Given the description of an element on the screen output the (x, y) to click on. 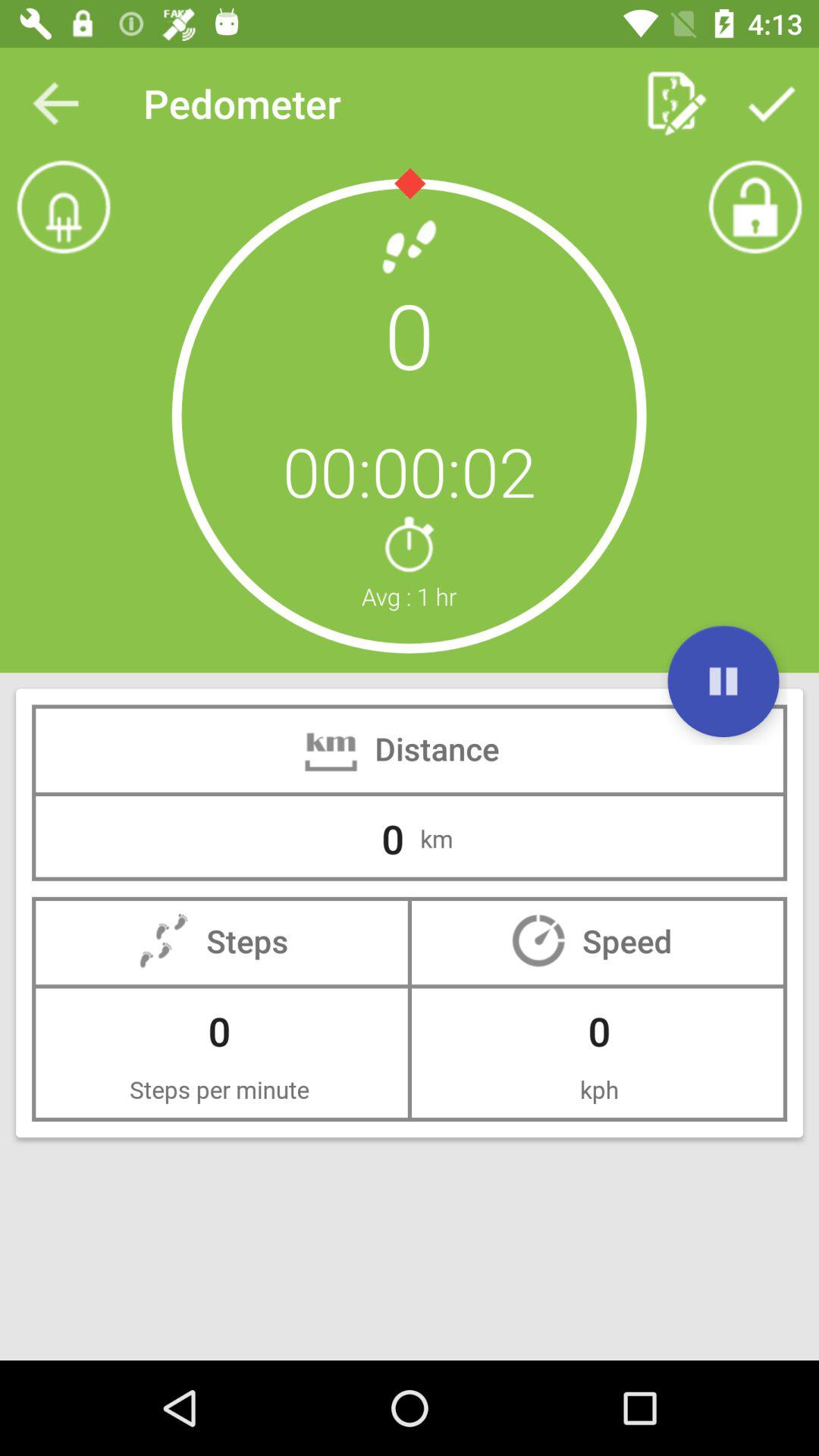
open icon next to pedometer item (55, 103)
